Given the description of an element on the screen output the (x, y) to click on. 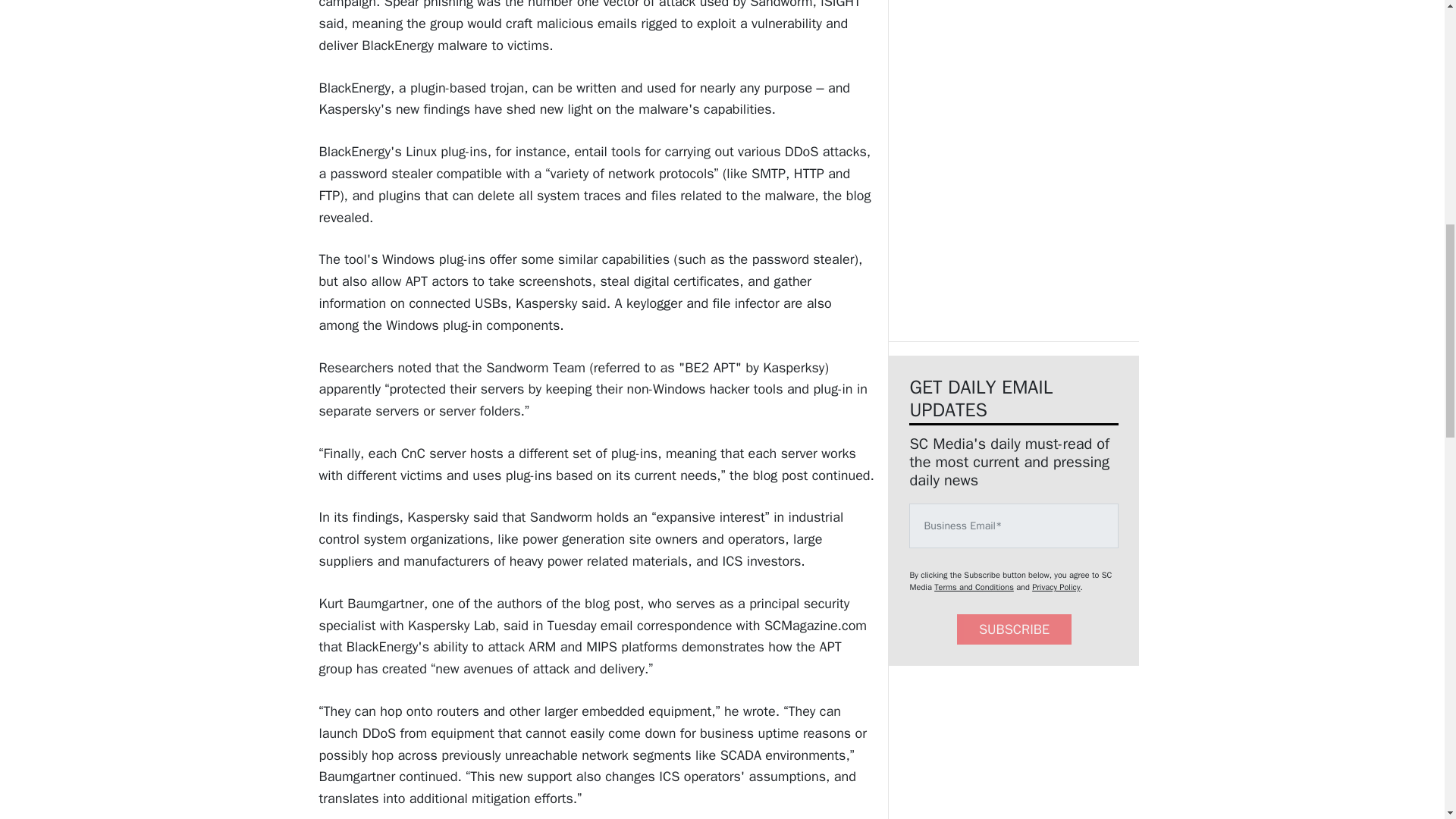
Privacy Policy (1056, 586)
SUBSCRIBE (1013, 629)
Terms and Conditions (973, 586)
